Given the description of an element on the screen output the (x, y) to click on. 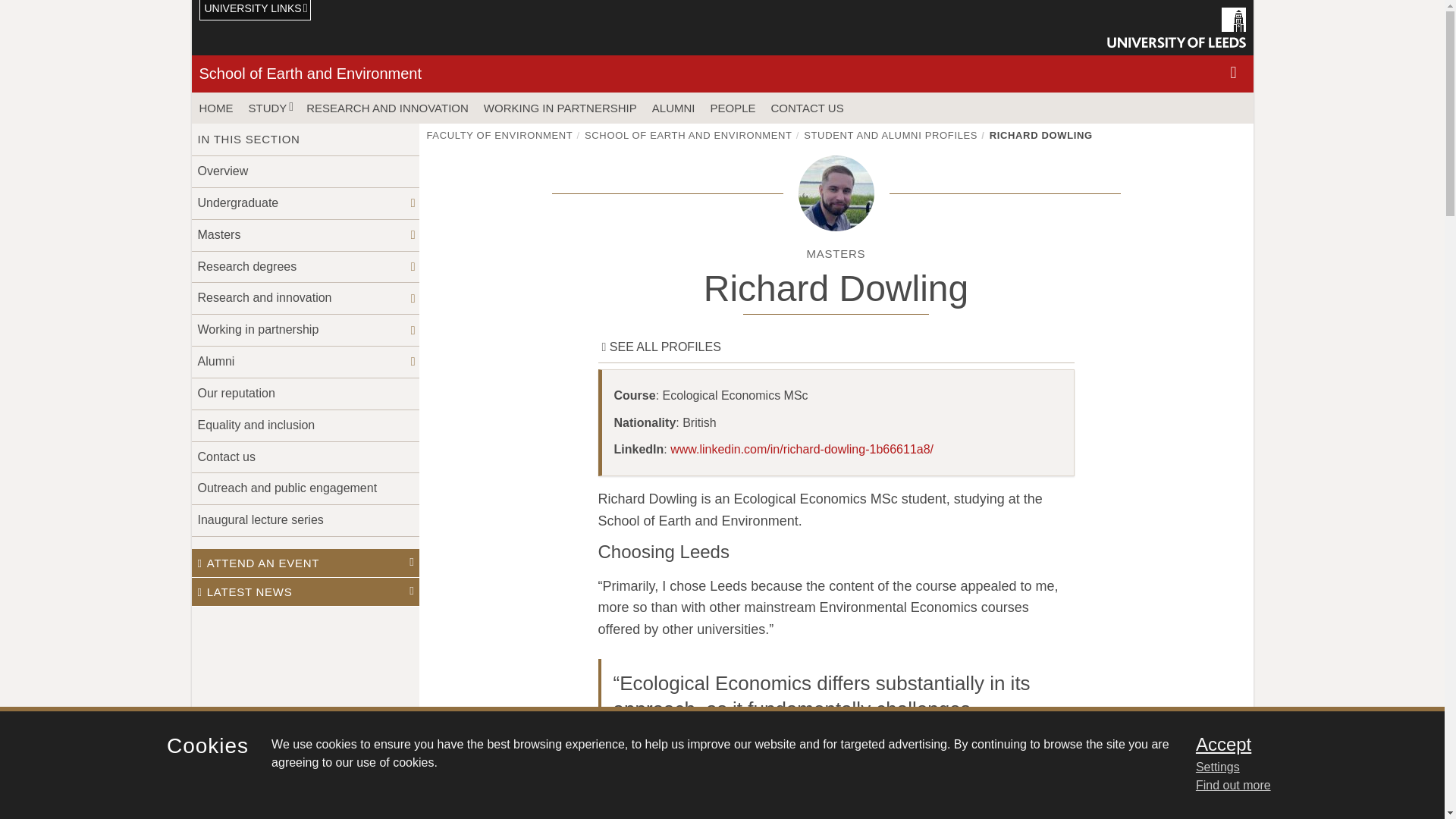
Find out more (1233, 784)
UNIVERSITY LINKS (254, 10)
University of Leeds homepage (1176, 27)
Settings (1300, 767)
Accept (1300, 744)
